Given the description of an element on the screen output the (x, y) to click on. 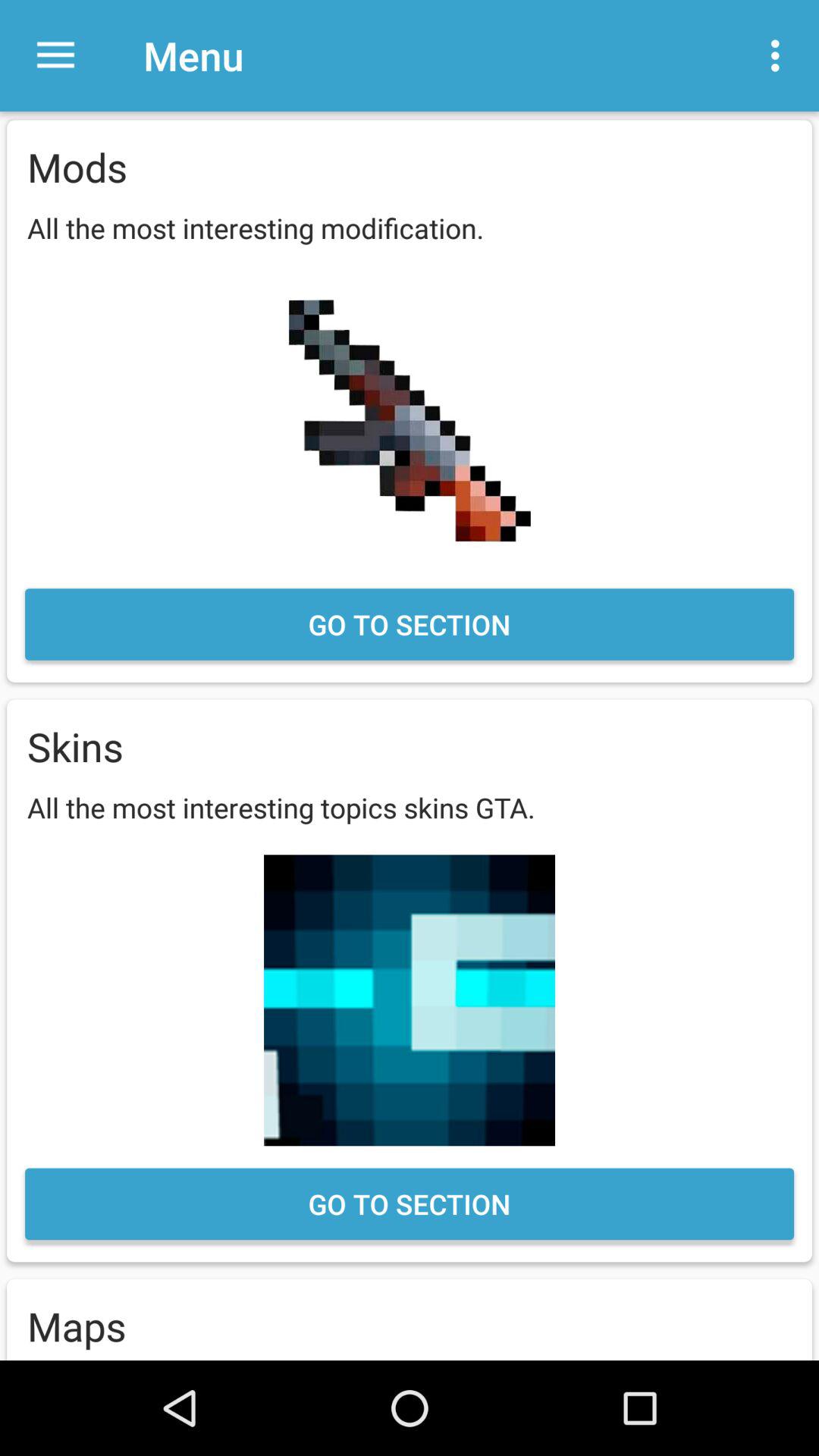
choose item next to the menu (779, 55)
